Given the description of an element on the screen output the (x, y) to click on. 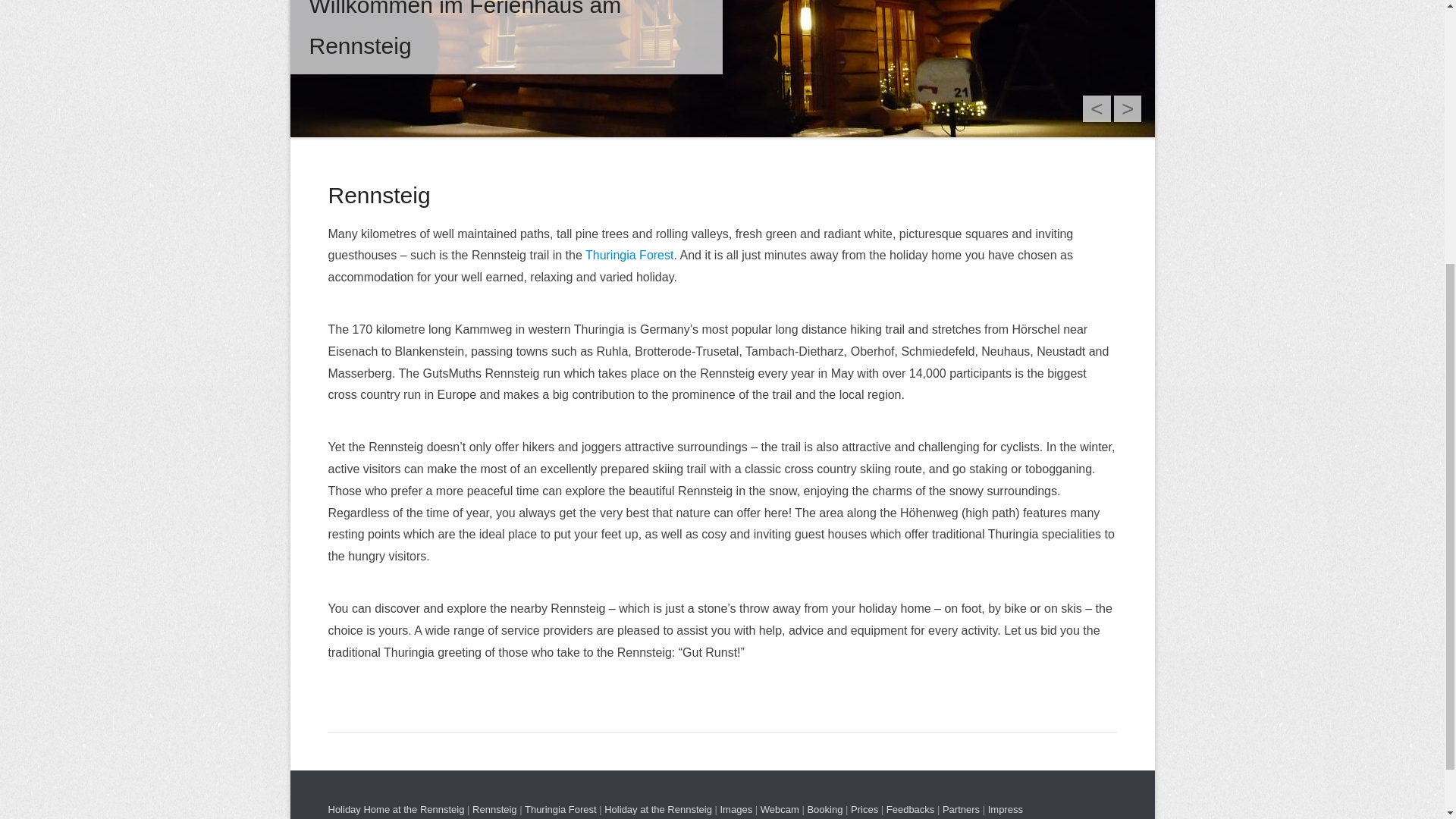
Thuringia Forest (560, 808)
Webcam (779, 808)
Willkommen im Ferienhaus am Rennsteig (721, 68)
Holiday at the Rennsteig (657, 808)
Images (736, 808)
Prices (863, 808)
Thuringia Forest (629, 254)
Holiday Home at the Rennsteig (395, 808)
Rennsteig (493, 808)
Feedbacks (910, 808)
Booking (824, 808)
Impress (1005, 808)
Partners (960, 808)
